Given the description of an element on the screen output the (x, y) to click on. 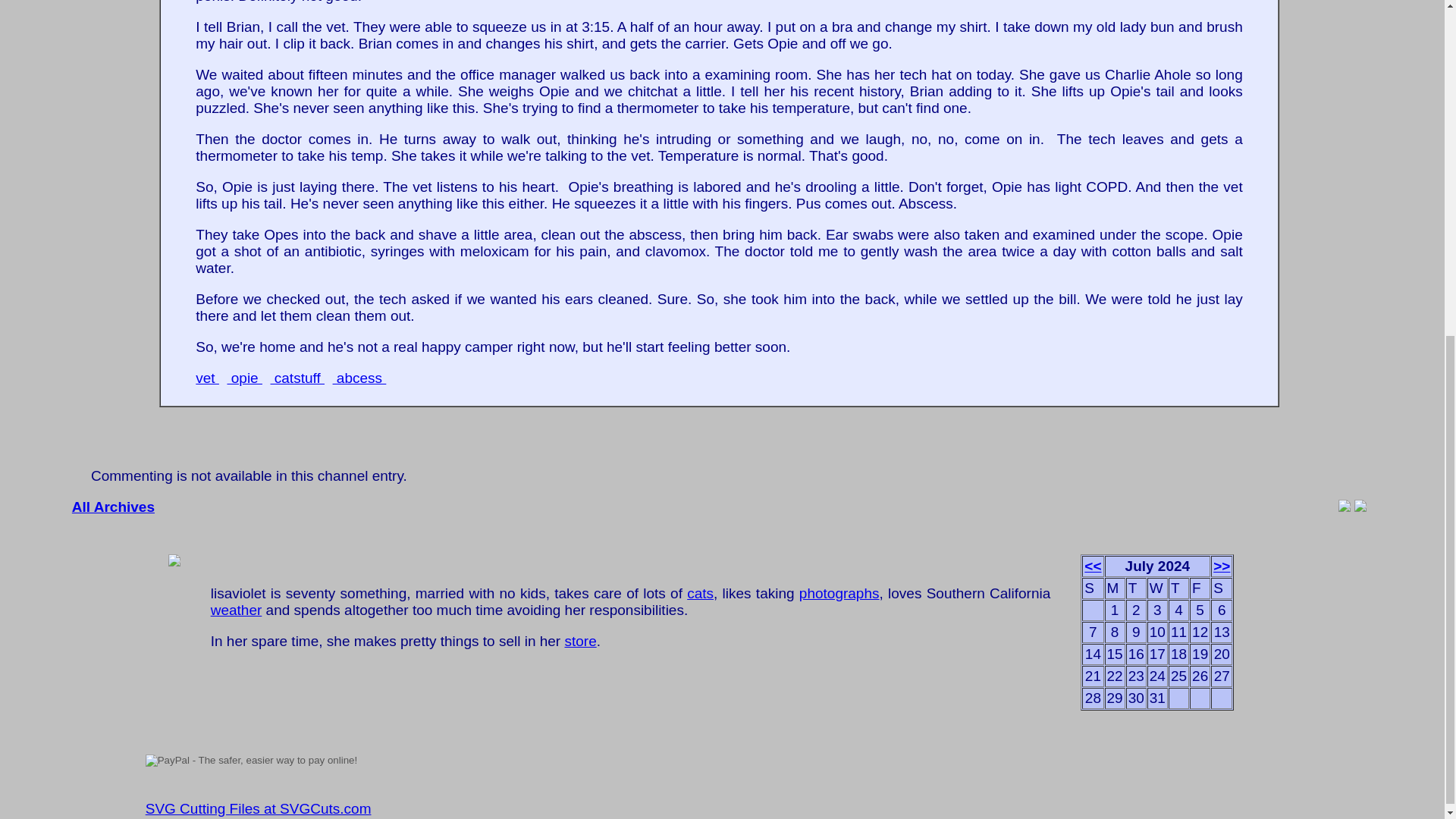
abcess (360, 377)
weather (236, 609)
opie (244, 377)
store (579, 641)
vet (207, 377)
photographs (839, 593)
catstuff (297, 377)
SVG Cutting Files at SVGCuts.com (258, 808)
All Archives (112, 506)
cats (700, 593)
